Given the description of an element on the screen output the (x, y) to click on. 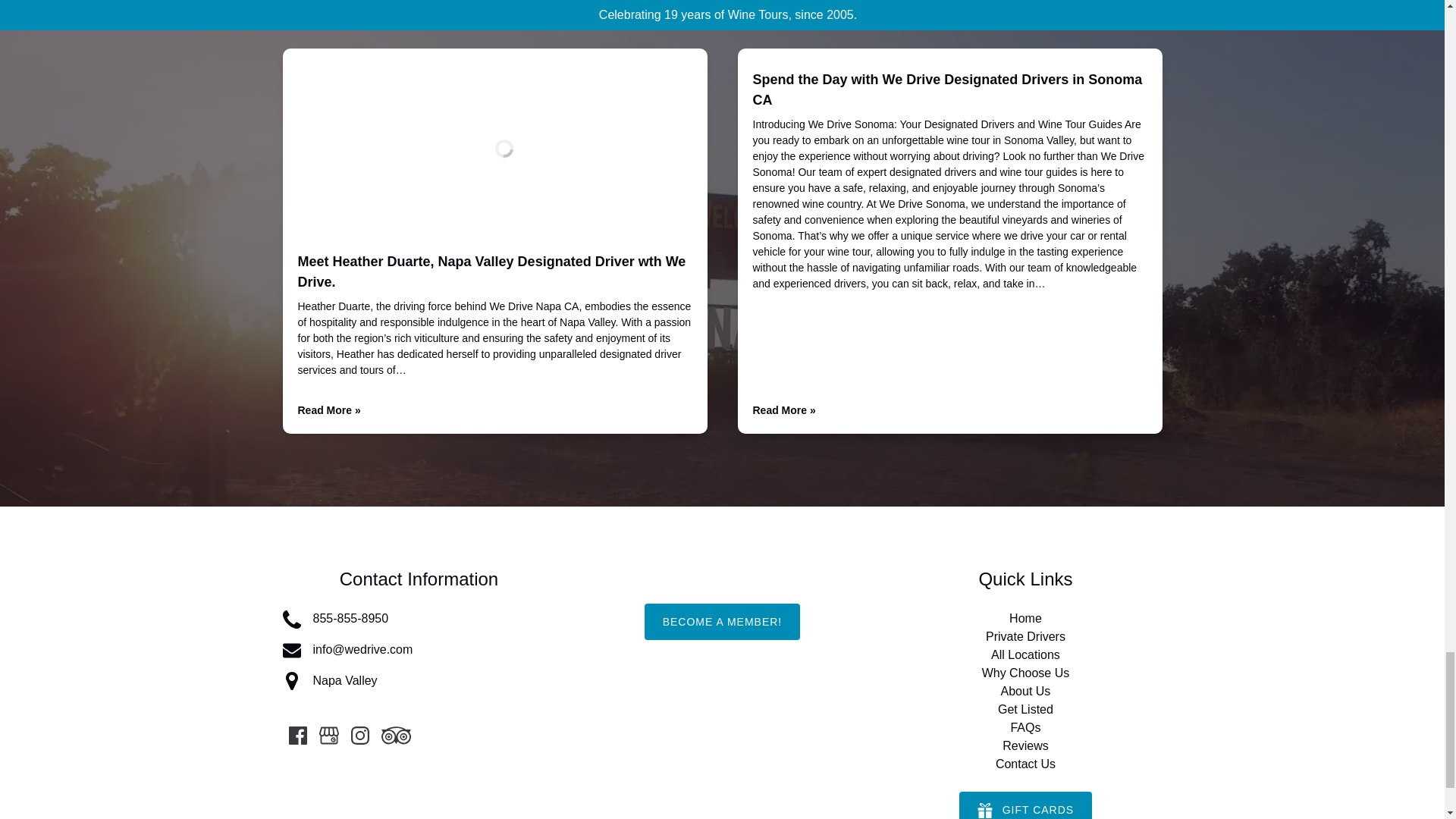
Phone (290, 619)
GIFT (984, 810)
Map Marker (290, 680)
Envelope (290, 650)
